Given the description of an element on the screen output the (x, y) to click on. 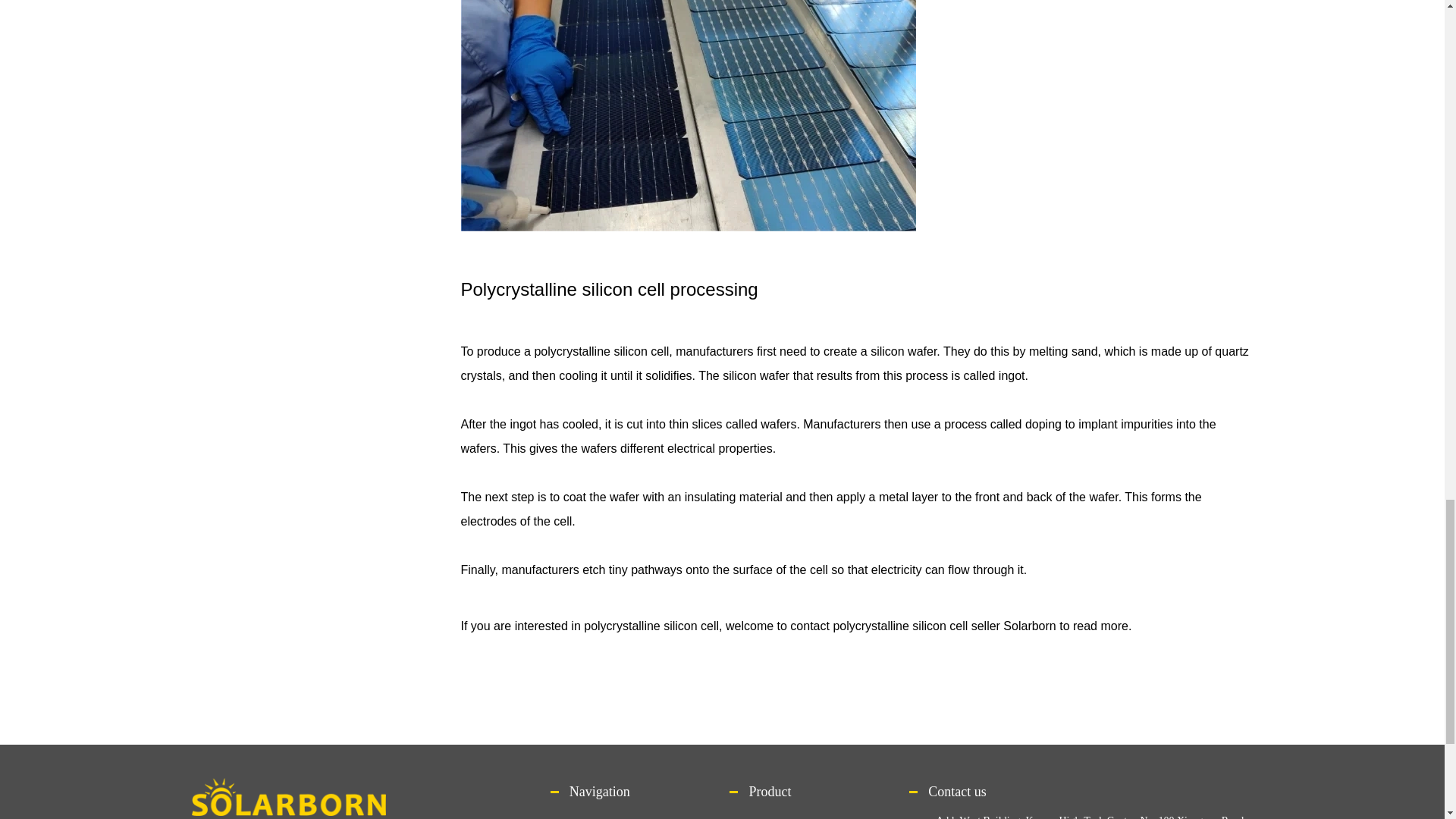
logo (287, 796)
Polycrystalline silicon cell processing (688, 115)
